Given the description of an element on the screen output the (x, y) to click on. 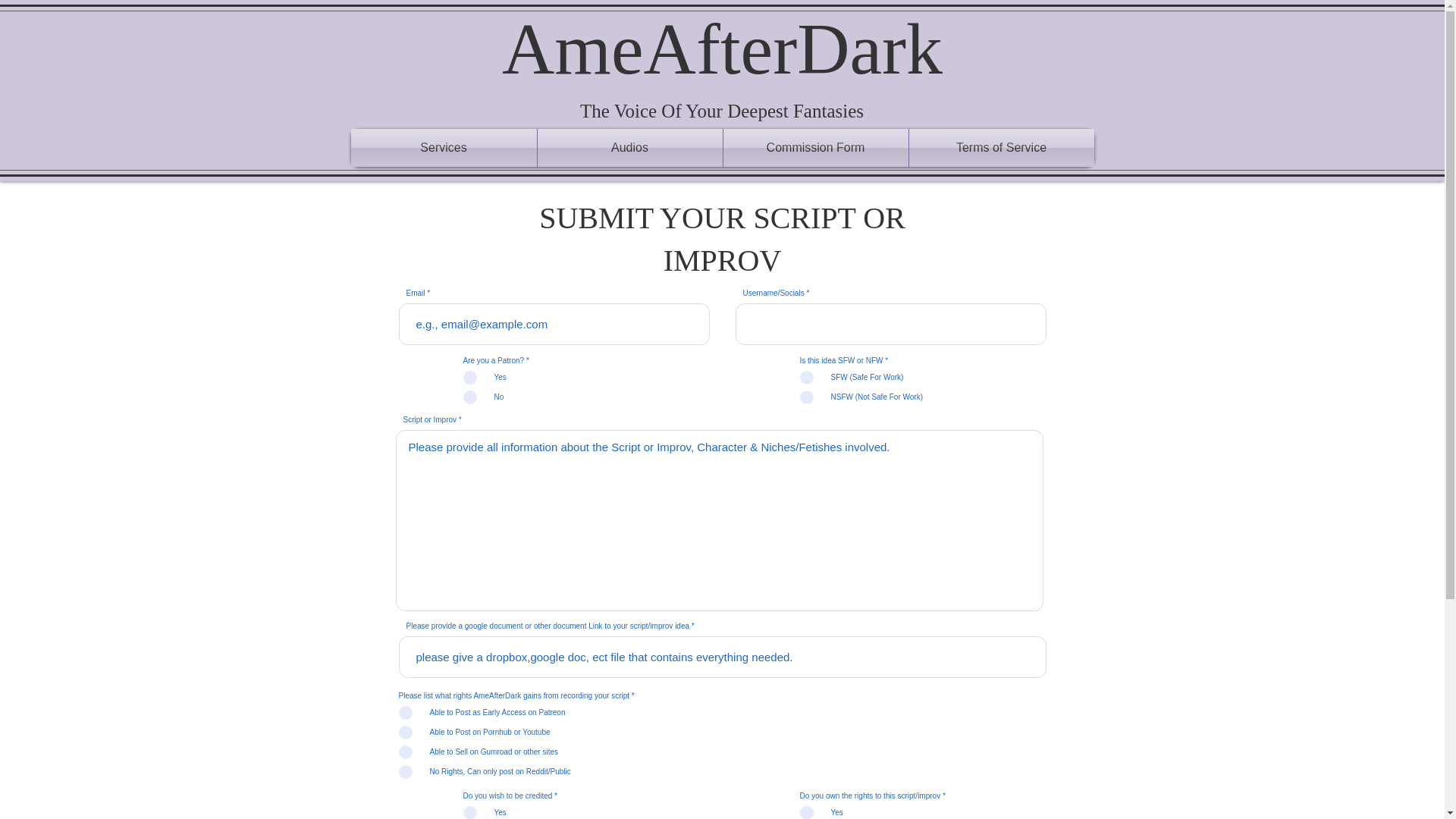
Terms of Service (1000, 147)
Commission Form (815, 147)
Services (442, 147)
Audios (629, 147)
